Given the description of an element on the screen output the (x, y) to click on. 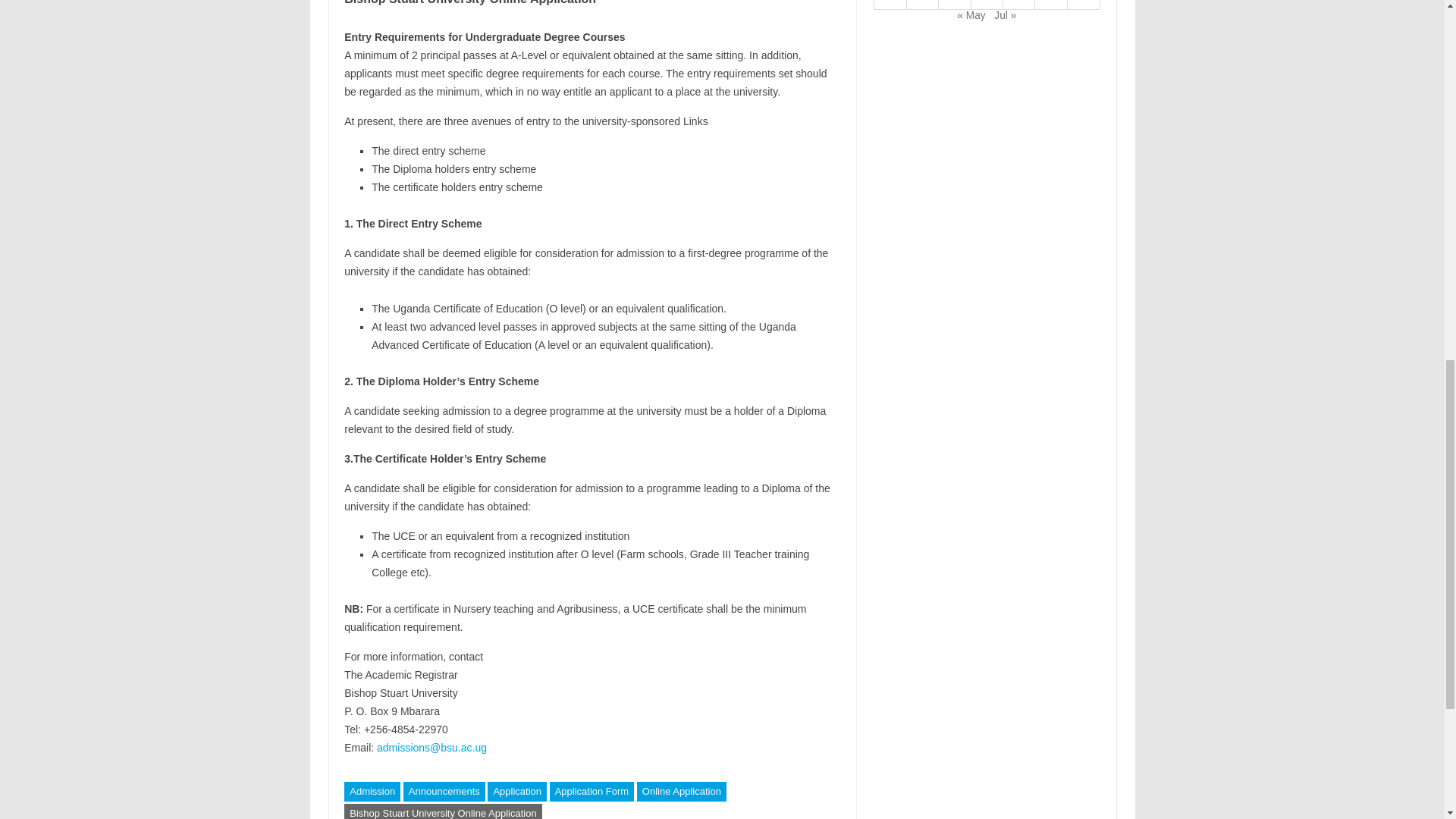
Bishop Stuart University Online Application (442, 811)
Application (517, 791)
Application Form (592, 791)
Online Application (681, 791)
Admission (371, 791)
Announcements (443, 791)
